Given the description of an element on the screen output the (x, y) to click on. 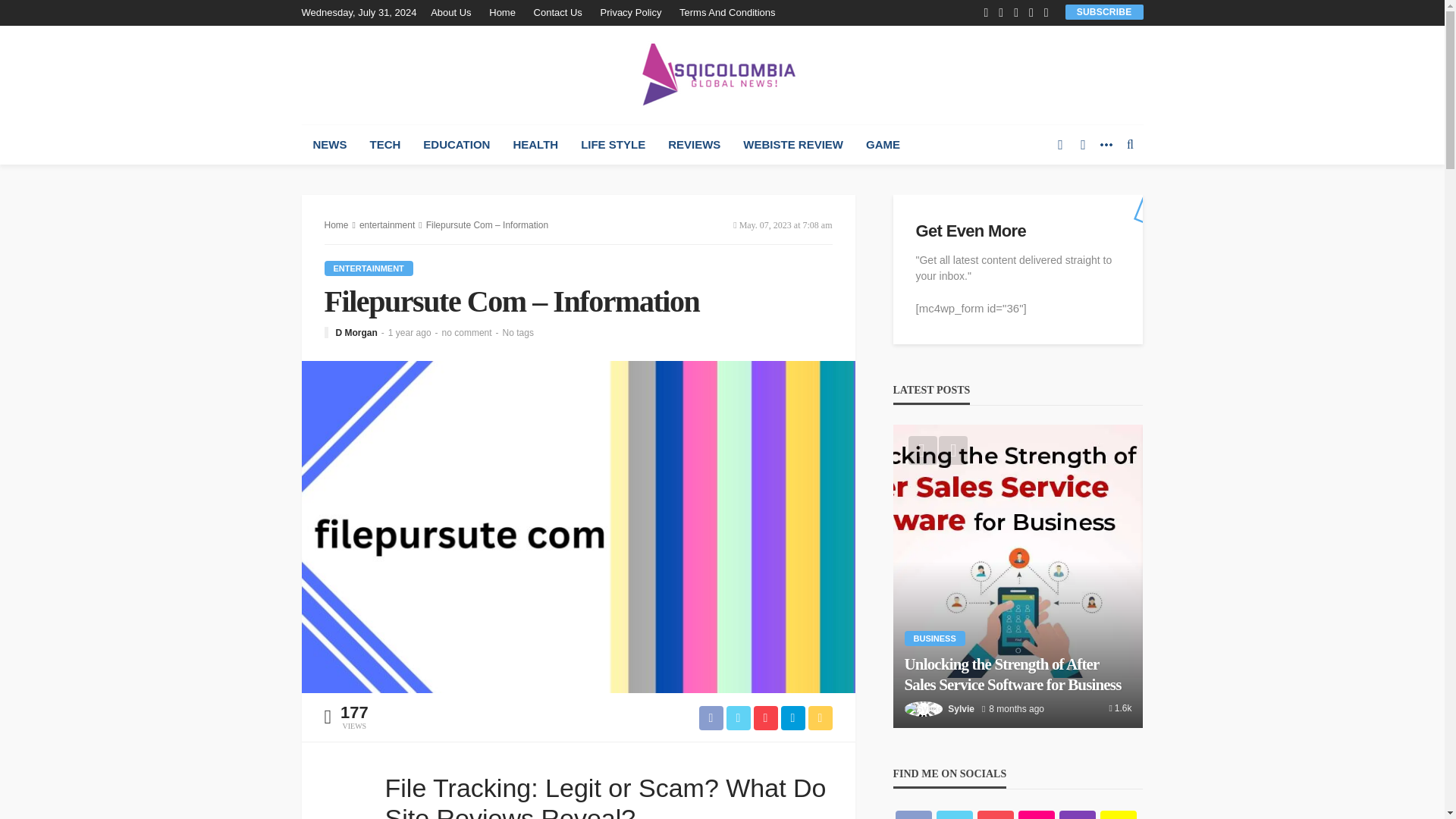
NEWS (329, 144)
Terms And Conditions (727, 12)
SUBSCRIBE (1103, 11)
Privacy Policy (630, 12)
HEALTH (534, 144)
sqicolombia (721, 74)
REVIEWS (694, 144)
subscribe (1103, 11)
About Us (454, 12)
Contact Us (557, 12)
TECH (385, 144)
LIFE STYLE (612, 144)
EDUCATION (456, 144)
Home (501, 12)
